Given the description of an element on the screen output the (x, y) to click on. 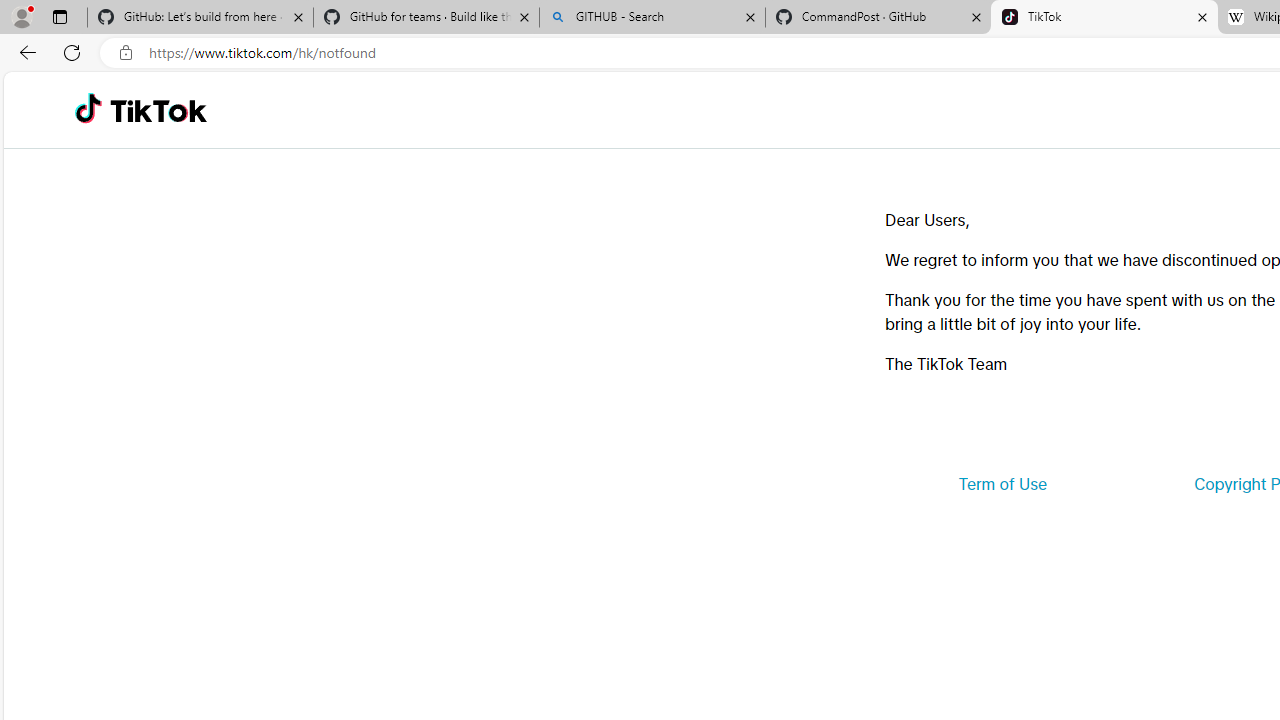
Term of Use (1002, 484)
GITHUB - Search (652, 17)
